Given the description of an element on the screen output the (x, y) to click on. 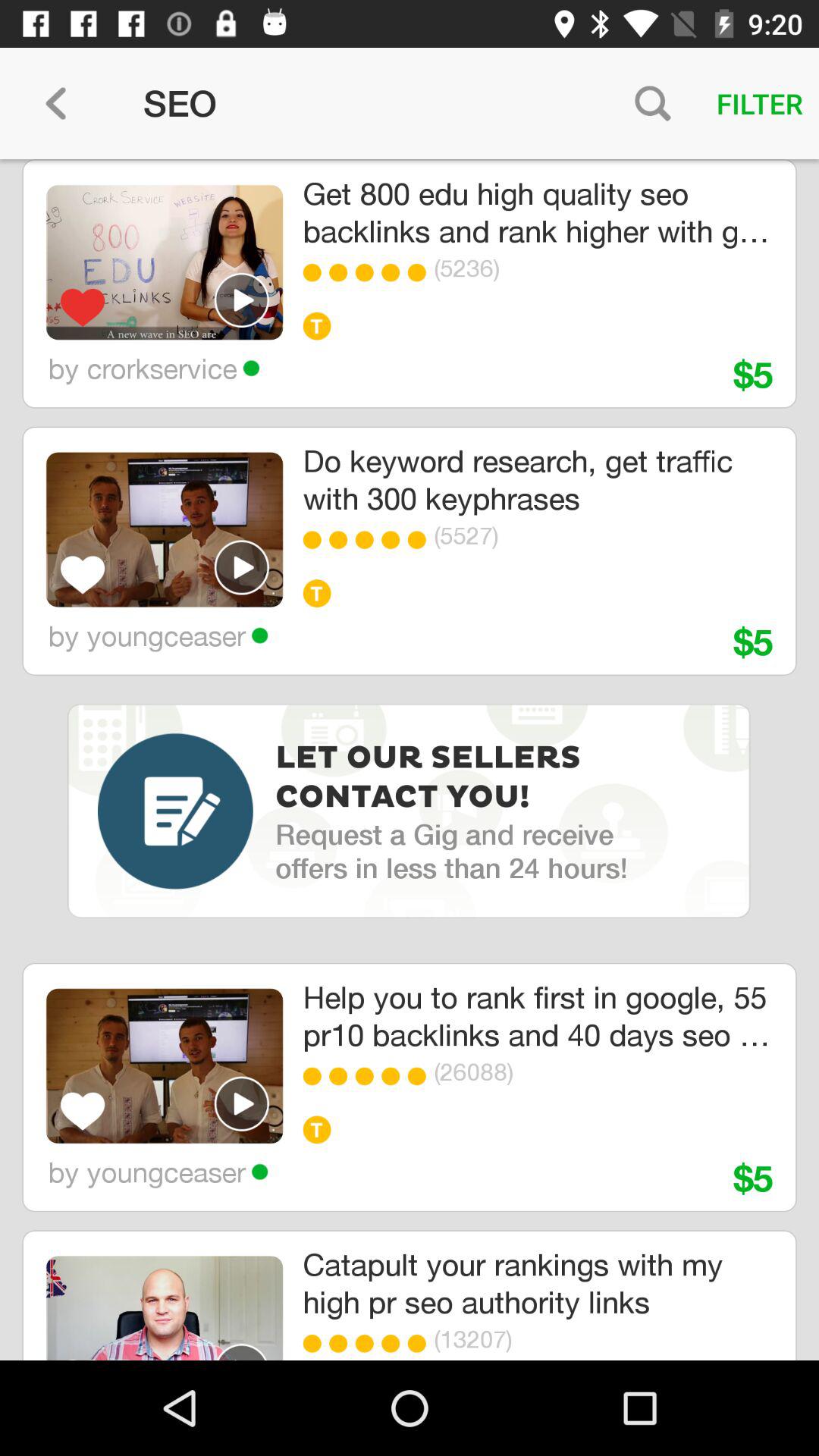
launch icon below the let our sellers item (451, 850)
